Given the description of an element on the screen output the (x, y) to click on. 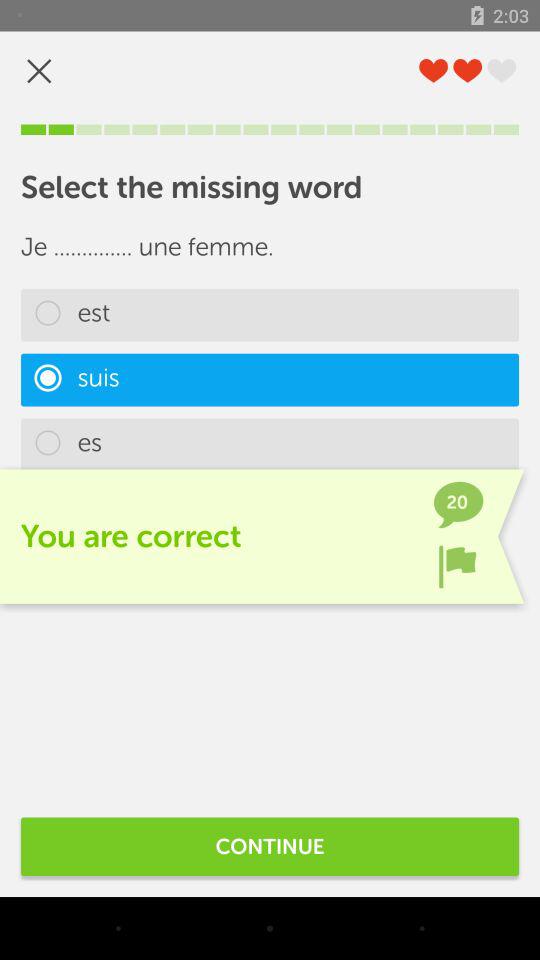
close (39, 70)
